Given the description of an element on the screen output the (x, y) to click on. 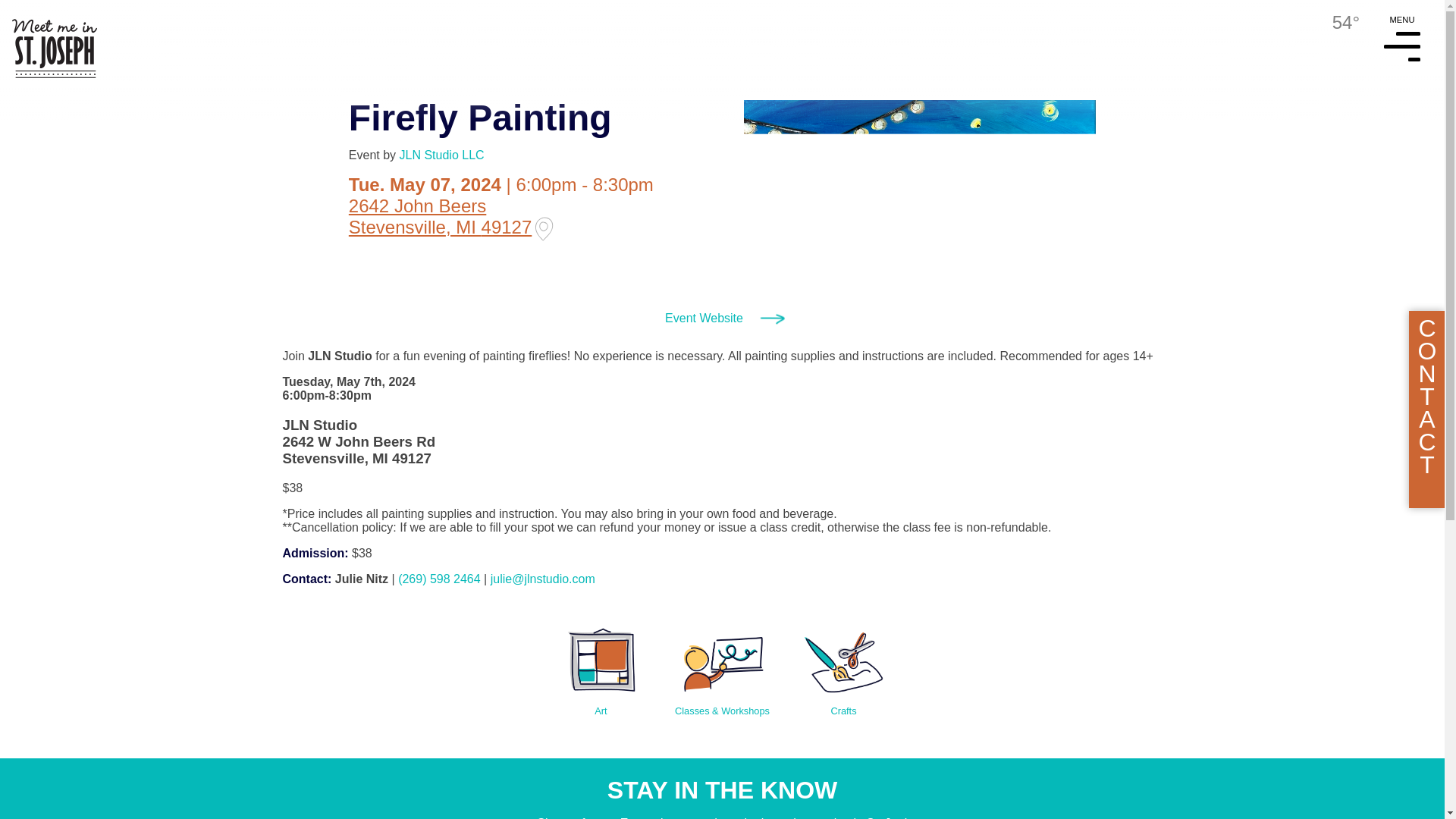
Crafts (842, 662)
Art (601, 662)
HOME (48, 39)
Weather (1333, 22)
